Given the description of an element on the screen output the (x, y) to click on. 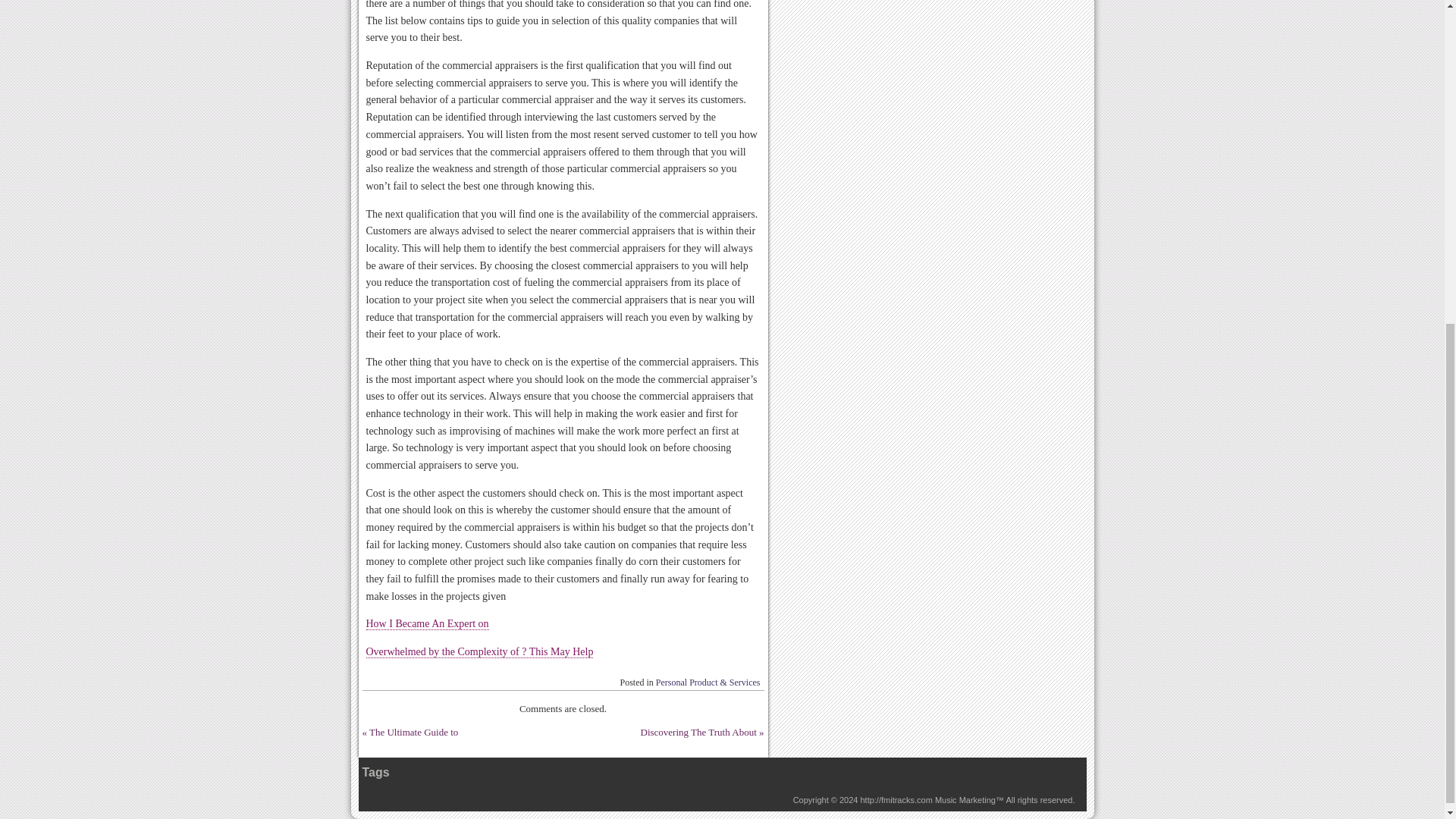
Overwhelmed by the Complexity of ? This May Help (478, 652)
Discovering The Truth About (697, 731)
Music Marketing (964, 799)
How I Became An Expert on (426, 623)
The Ultimate Guide to (413, 731)
